Given the description of an element on the screen output the (x, y) to click on. 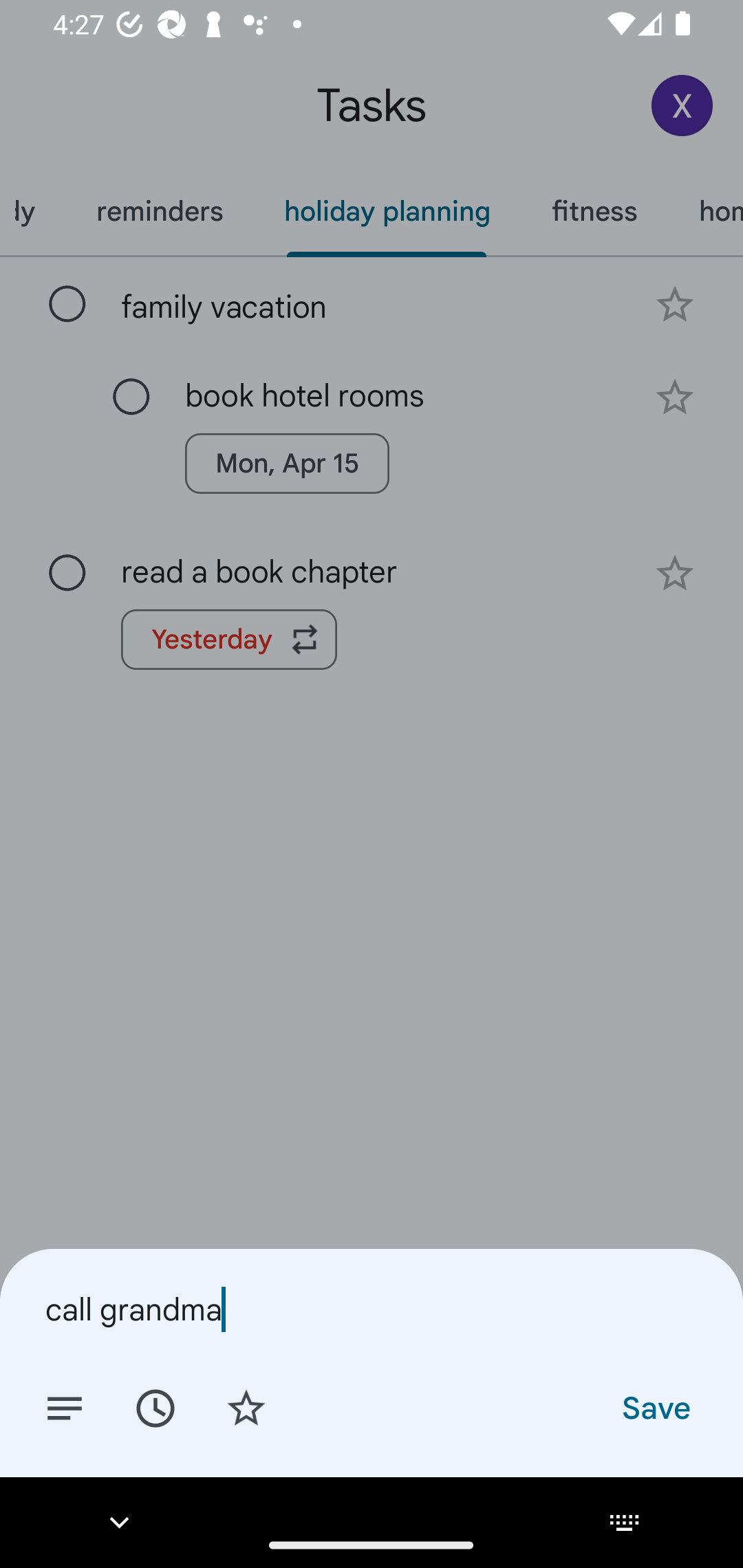
call grandma (371, 1308)
Save (655, 1407)
Add details (64, 1407)
Set date/time (154, 1407)
Add star (245, 1407)
